Given the description of an element on the screen output the (x, y) to click on. 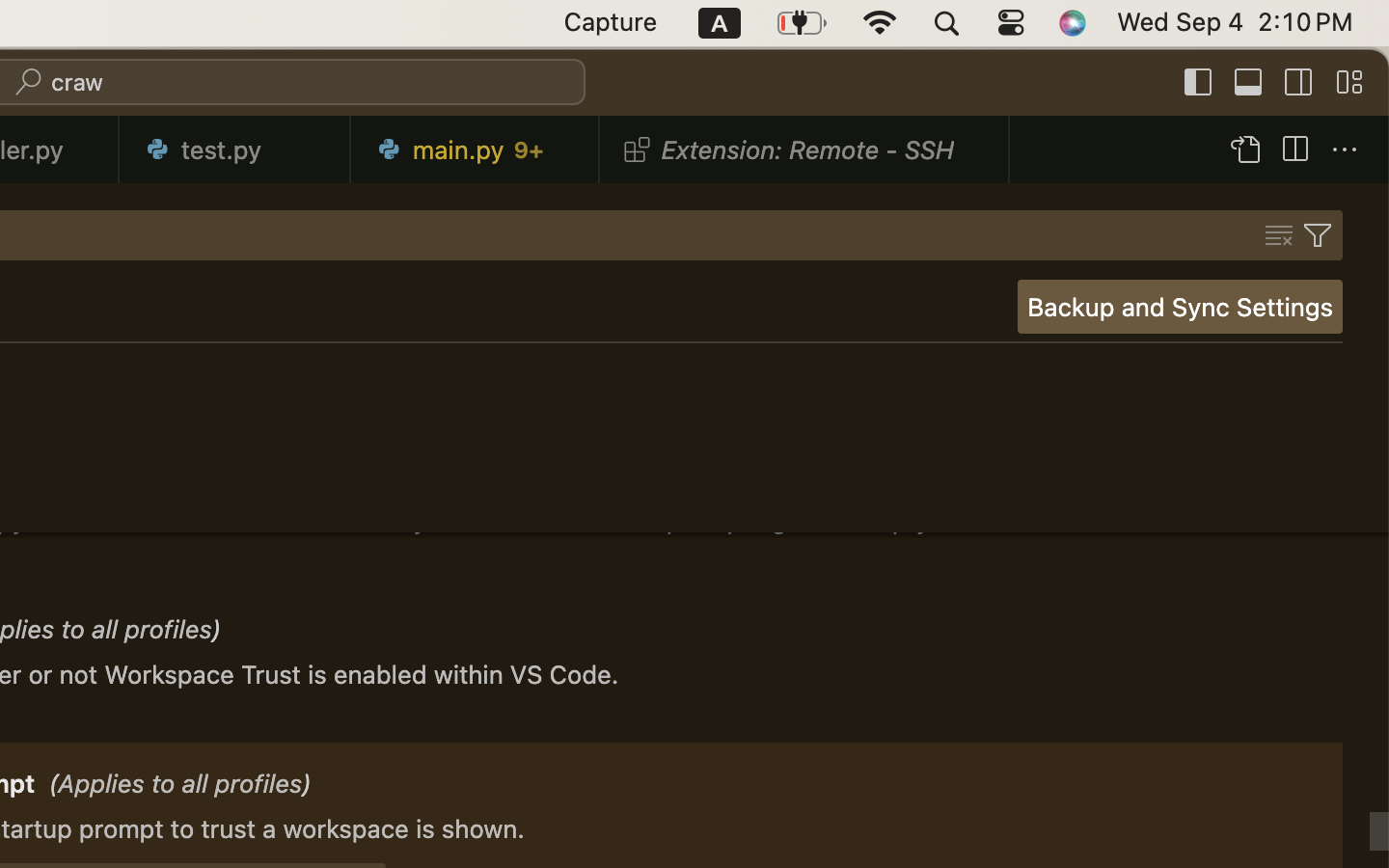
 Element type: AXStaticText (1317, 234)
 Element type: AXButton (1244, 150)
 Element type: AXButton (1294, 150)
 Element type: AXCheckBox (1198, 82)
 Element type: AXCheckBox (1299, 82)
